Given the description of an element on the screen output the (x, y) to click on. 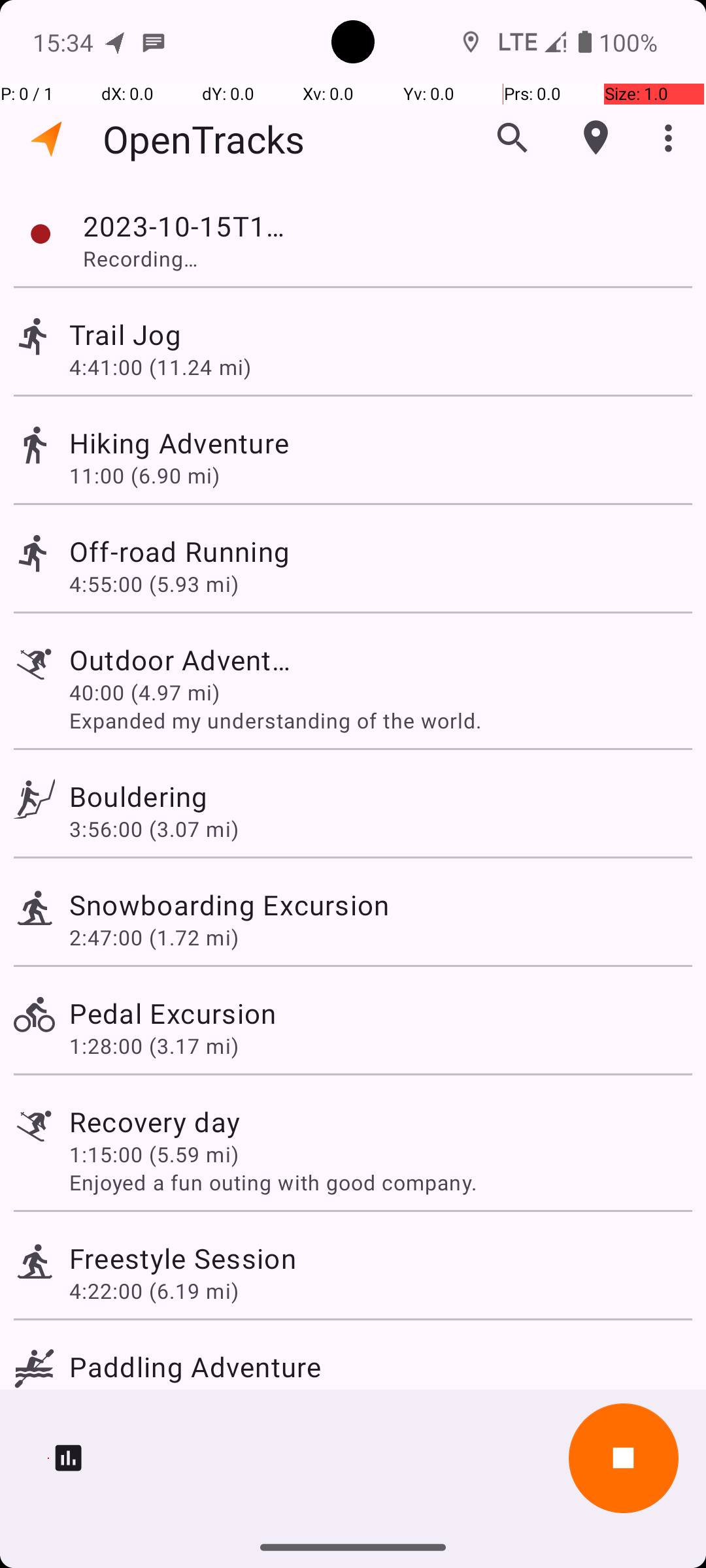
2023-10-15T15:34Z Element type: android.widget.TextView (186, 225)
Recording… Element type: android.widget.TextView (167, 258)
Trail Jog Element type: android.widget.TextView (154, 333)
4:41:00 (11.24 mi) Element type: android.widget.TextView (159, 366)
Hiking Adventure Element type: android.widget.TextView (182, 442)
11:00 (6.90 mi) Element type: android.widget.TextView (153, 475)
Off-road Running Element type: android.widget.TextView (194, 550)
4:55:00 (5.93 mi) Element type: android.widget.TextView (159, 583)
Outdoor Adventure Element type: android.widget.TextView (184, 659)
40:00 (4.97 mi) Element type: android.widget.TextView (144, 692)
Expanded my understanding of the world. Element type: android.widget.TextView (380, 720)
Bouldering Element type: android.widget.TextView (138, 795)
3:56:00 (3.07 mi) Element type: android.widget.TextView (153, 828)
Snowboarding Excursion Element type: android.widget.TextView (229, 904)
2:47:00 (1.72 mi) Element type: android.widget.TextView (153, 937)
Pedal Excursion Element type: android.widget.TextView (172, 1012)
1:28:00 (3.17 mi) Element type: android.widget.TextView (153, 1045)
Recovery day Element type: android.widget.TextView (154, 1121)
1:15:00 (5.59 mi) Element type: android.widget.TextView (153, 1154)
Enjoyed a fun outing with good company. Element type: android.widget.TextView (380, 1182)
Freestyle Session Element type: android.widget.TextView (182, 1257)
4:22:00 (6.19 mi) Element type: android.widget.TextView (153, 1290)
Paddling Adventure Element type: android.widget.TextView (194, 1366)
3:58:00 (12.28 mi) Element type: android.widget.TextView (159, 1399)
